Given the description of an element on the screen output the (x, y) to click on. 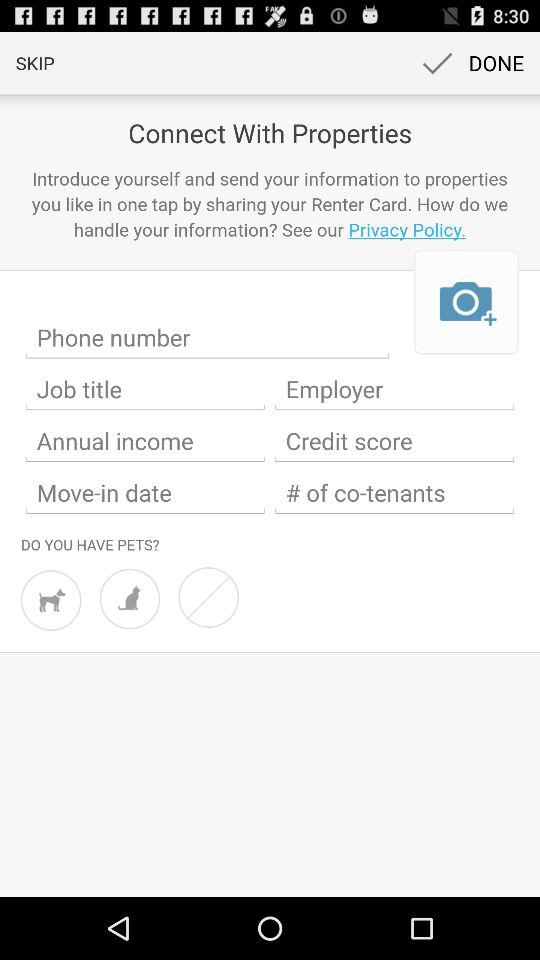
check here if you have any cats (129, 598)
